Given the description of an element on the screen output the (x, y) to click on. 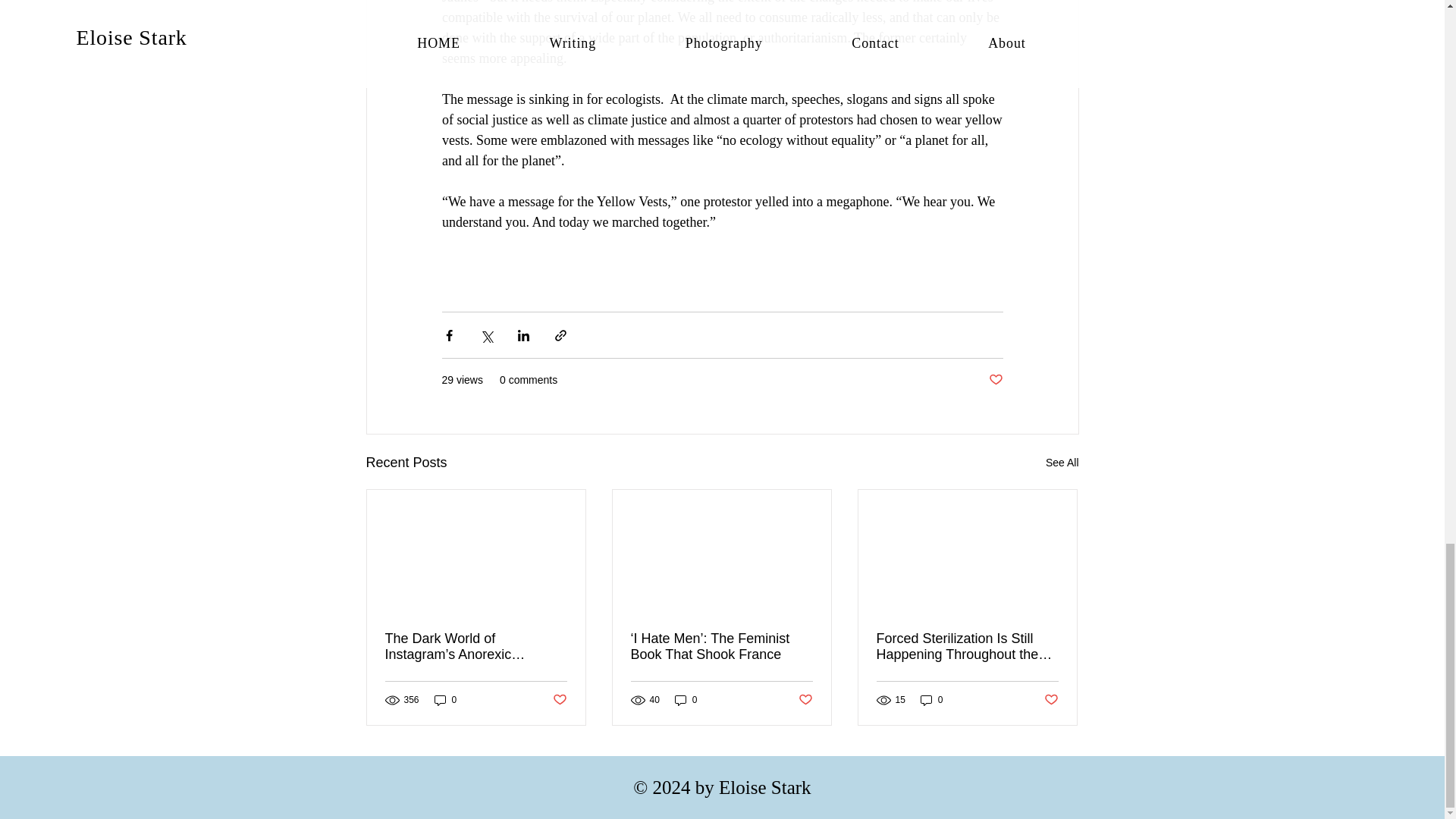
Post not marked as liked (995, 380)
Forced Sterilization Is Still Happening Throughout the World (967, 646)
0 (445, 699)
0 (931, 699)
Post not marked as liked (804, 700)
See All (1061, 463)
Post not marked as liked (1050, 700)
Post not marked as liked (558, 700)
0 (685, 699)
